Given the description of an element on the screen output the (x, y) to click on. 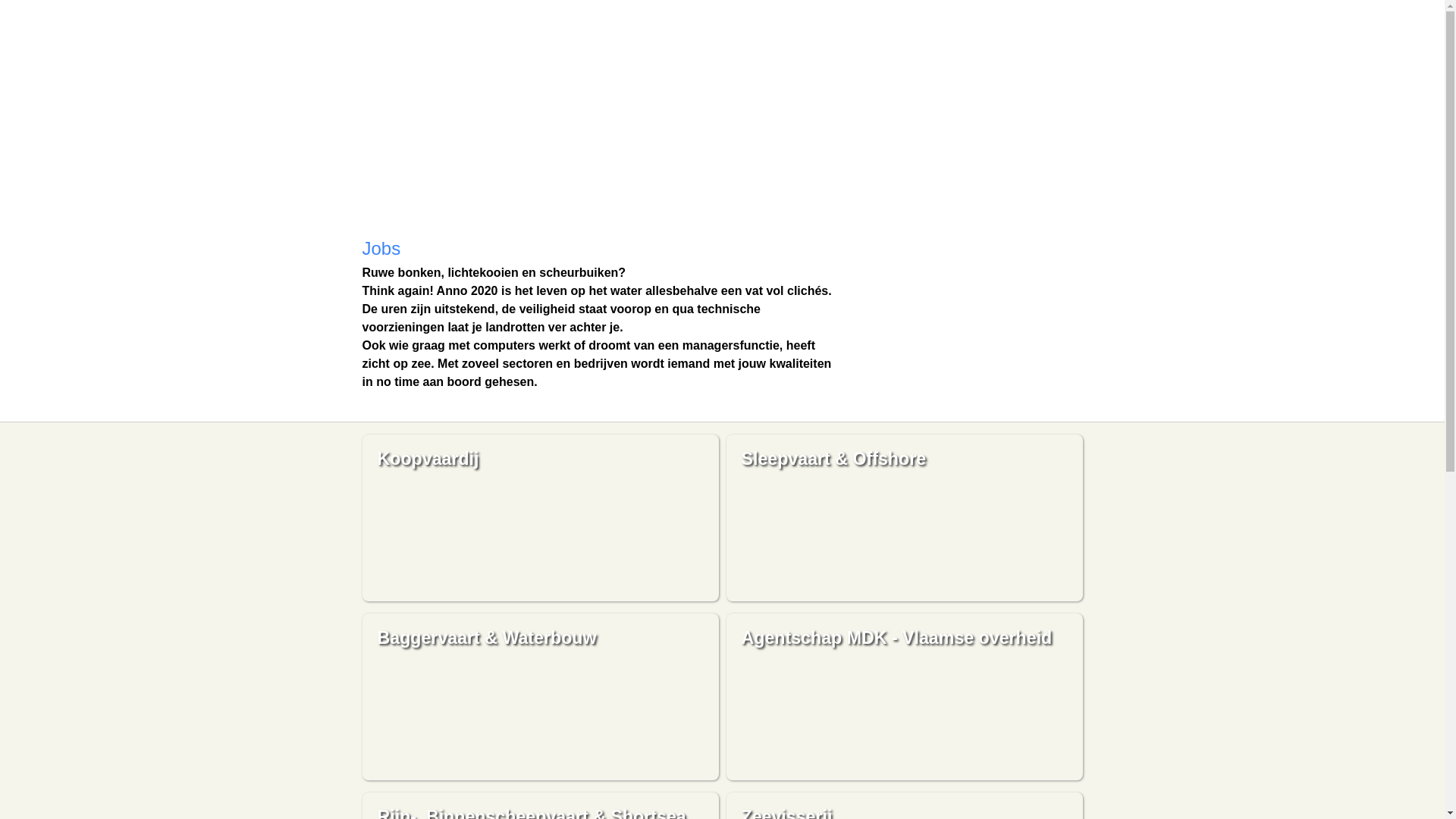
links Element type: text (708, 183)
home Element type: text (721, 75)
opleidingen Element type: text (408, 183)
jobs Element type: text (477, 183)
contact Element type: text (771, 183)
events Element type: text (529, 183)
faq Element type: text (621, 183)
